Given the description of an element on the screen output the (x, y) to click on. 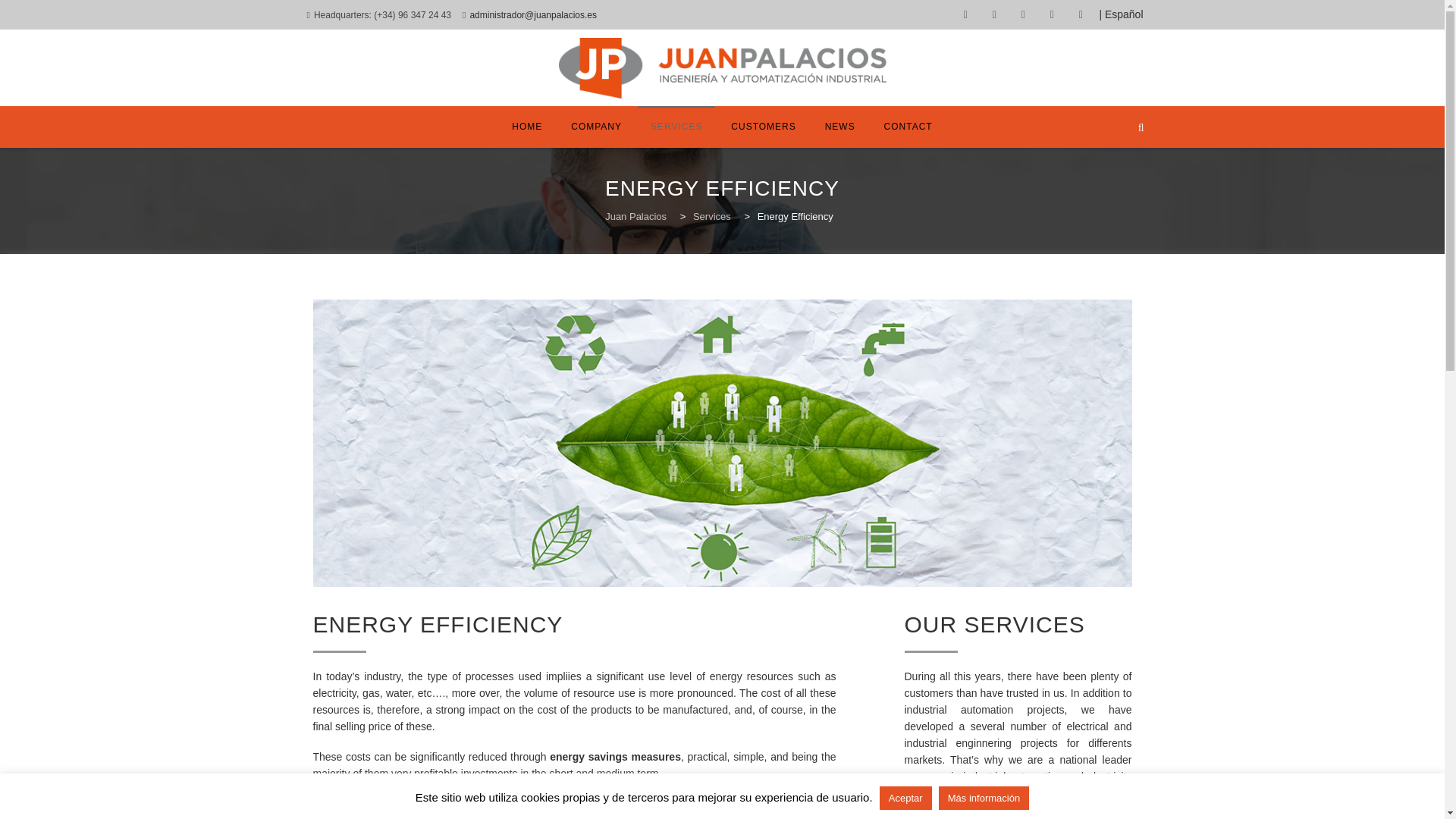
Juan Palacios (721, 67)
Web development Valencia - Neobunker (1095, 768)
NEWS (839, 127)
HOME (526, 127)
SERVICES (675, 127)
COMPANY (595, 127)
Go to Juan Palacios. (636, 215)
Juan Palacios (636, 215)
Services (713, 215)
